Given the description of an element on the screen output the (x, y) to click on. 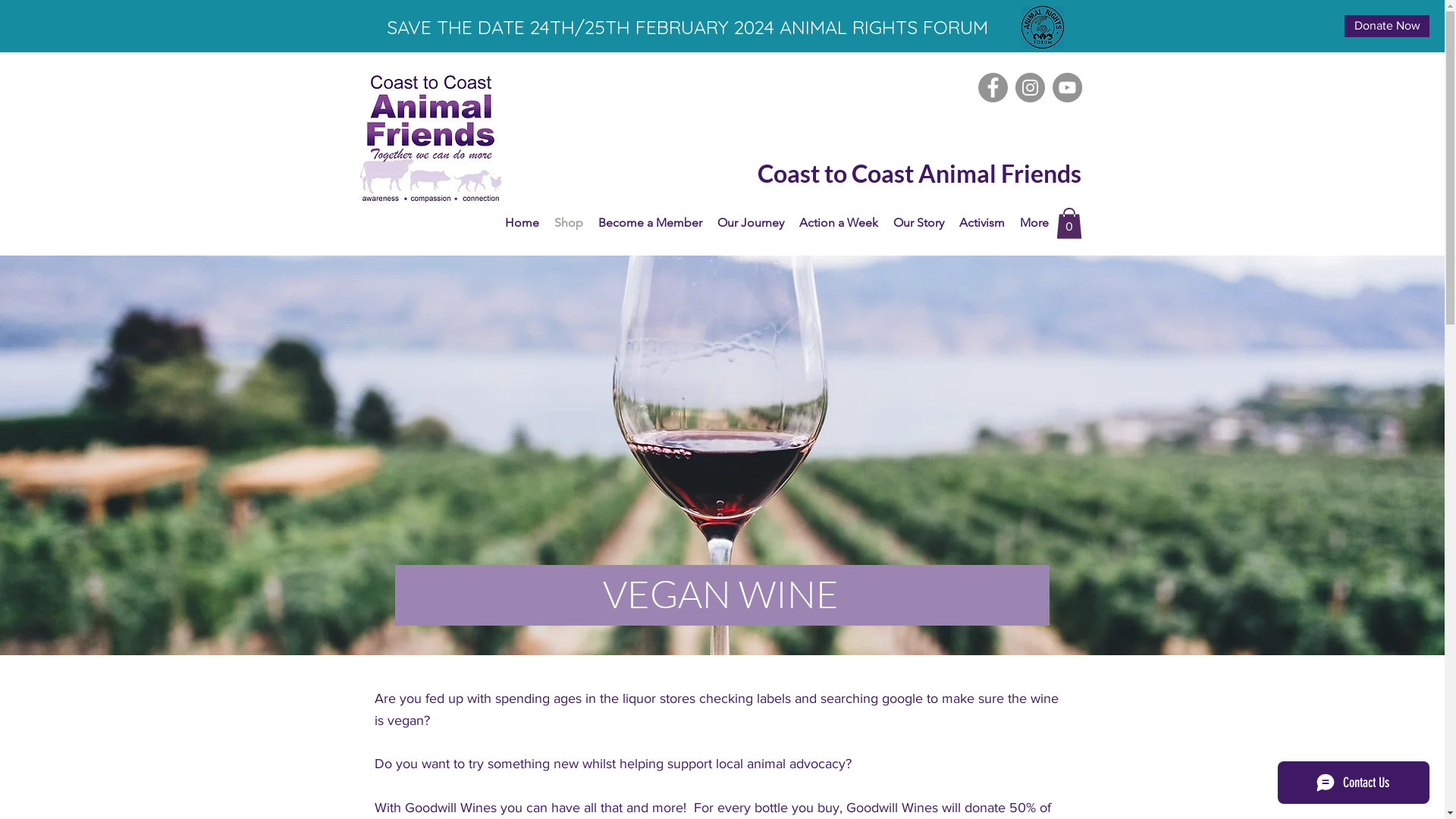
Activism Element type: text (980, 222)
Our Story Element type: text (918, 222)
Become a Member Element type: text (649, 222)
Coast to Coast Animal Friends Element type: text (867, 173)
Our Journey Element type: text (750, 222)
Shop Element type: text (567, 222)
Action a Week Element type: text (838, 222)
Donate Now Element type: text (1386, 26)
Home Element type: text (521, 222)
0 Element type: text (1068, 222)
SAVE THE DATE 24TH/25TH FEBRUARY 2024 ANIMAL RIGHTS FORUM Element type: text (687, 27)
